Given the description of an element on the screen output the (x, y) to click on. 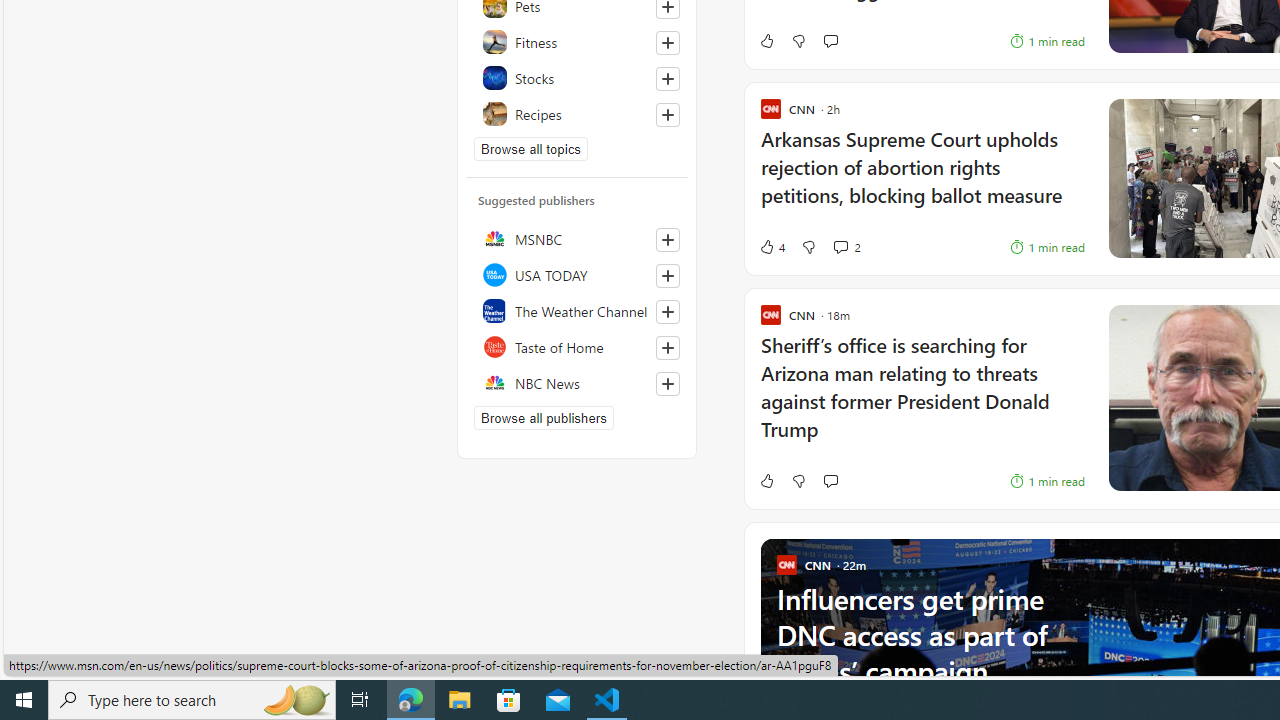
Taste of Home (577, 346)
Start the conversation (829, 480)
Dislike (798, 480)
Browse all publishers (543, 417)
View comments 2 Comment (846, 246)
Like (766, 480)
Browse all topics (530, 148)
Start the conversation (830, 480)
USA TODAY (577, 274)
The Weather Channel (577, 310)
View comments 2 Comment (840, 246)
NBC News (577, 382)
Follow this source (667, 384)
Stocks (577, 78)
Recipes (577, 114)
